Given the description of an element on the screen output the (x, y) to click on. 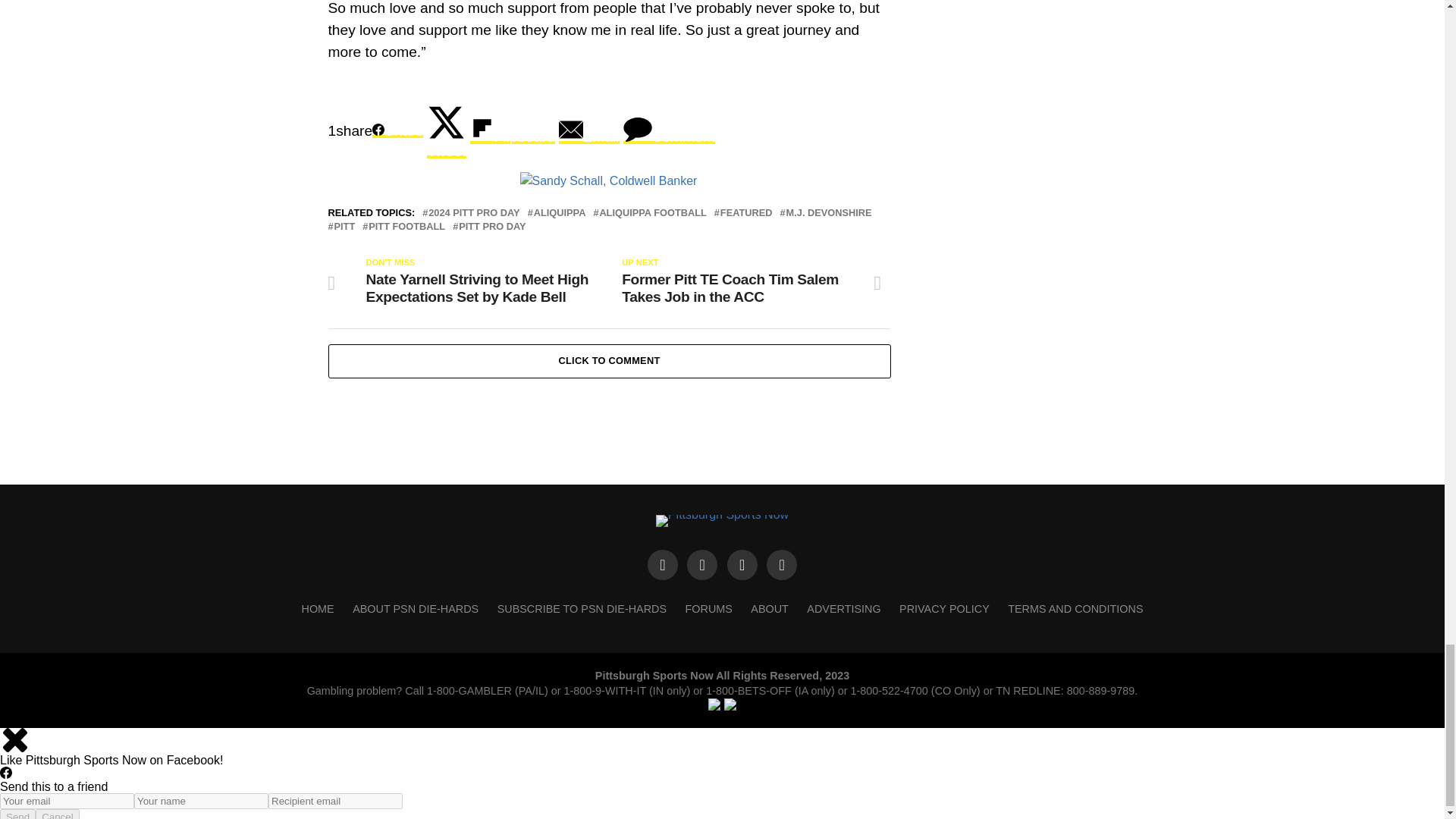
Share on Share (397, 130)
Share on Comment (668, 130)
Share on Flipboard (512, 130)
Share on Email (589, 130)
Share on Tweet (445, 130)
